Given the description of an element on the screen output the (x, y) to click on. 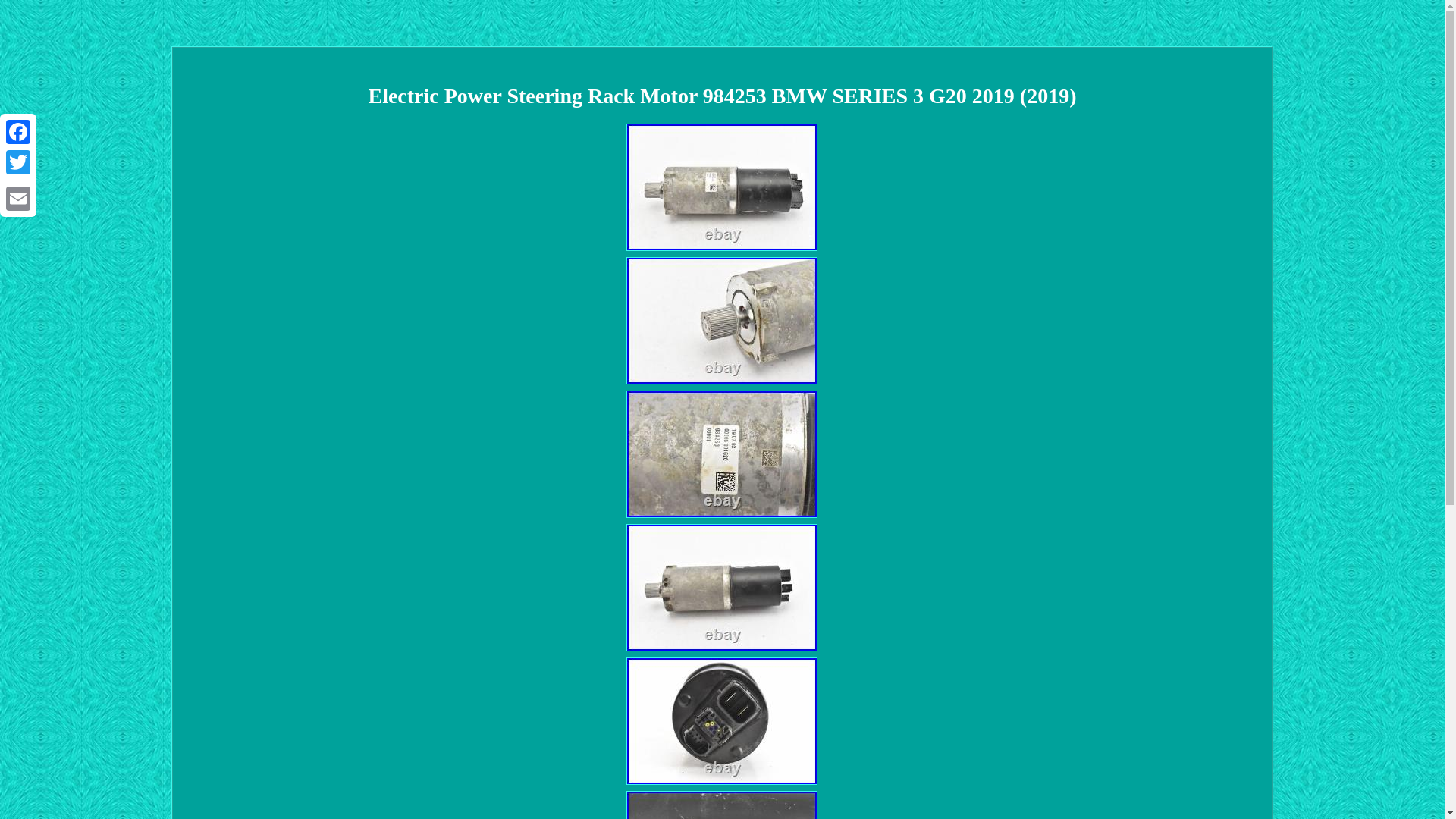
Twitter (17, 162)
Facebook (17, 132)
Email (17, 198)
